Given the description of an element on the screen output the (x, y) to click on. 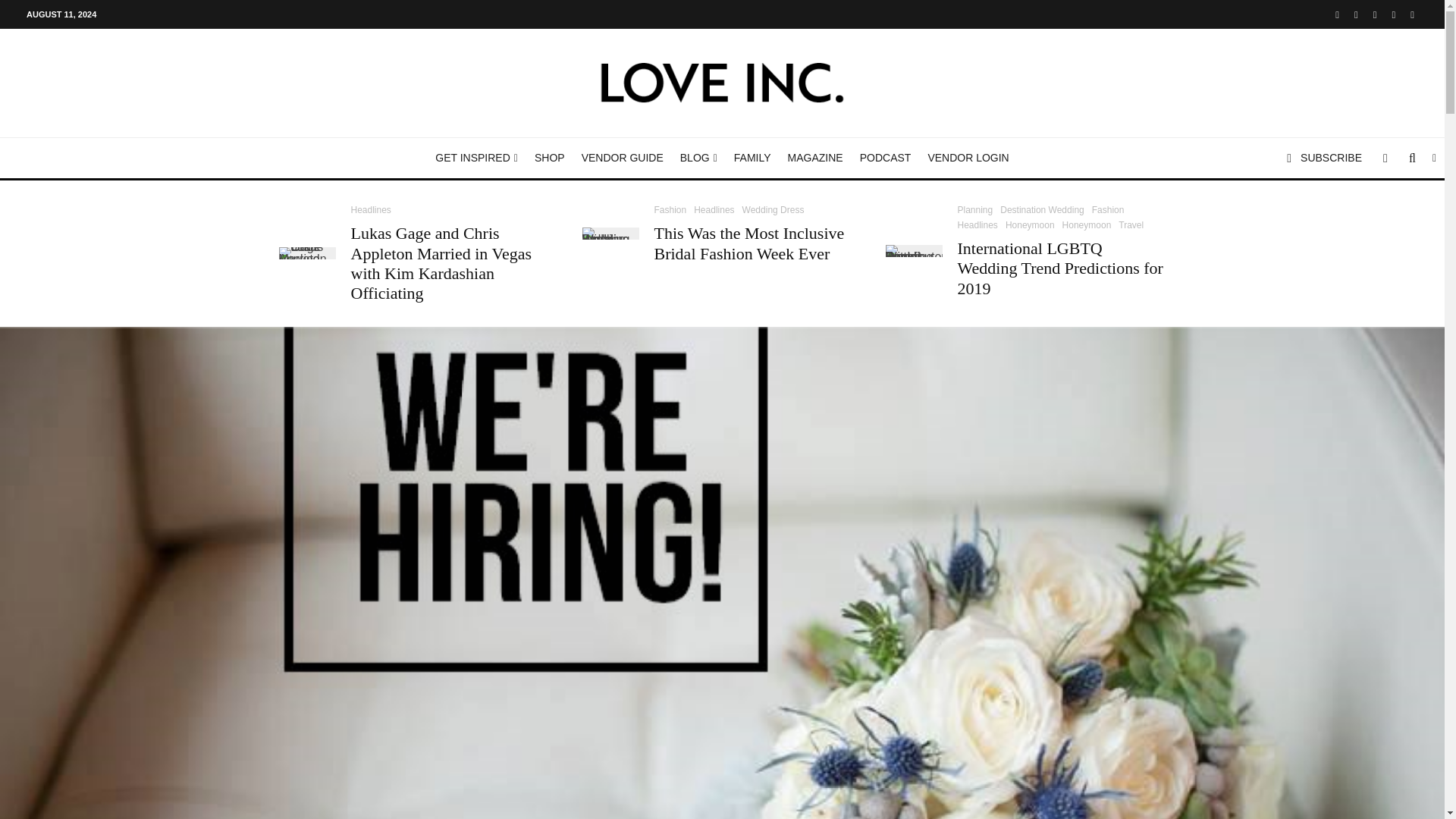
VENDOR LOGIN (967, 158)
Wedding Trend Report Contributor Brittny Drye (913, 250)
MAGAZINE (814, 158)
BLOG (698, 158)
VENDOR GUIDE (622, 158)
SUBSCRIBE (1324, 158)
FAMILY (751, 158)
Inclusive Wedding Bridal Fashion Week (610, 233)
SHOP (549, 158)
Lukas Gage and Chris Appleton Married (307, 253)
